Given the description of an element on the screen output the (x, y) to click on. 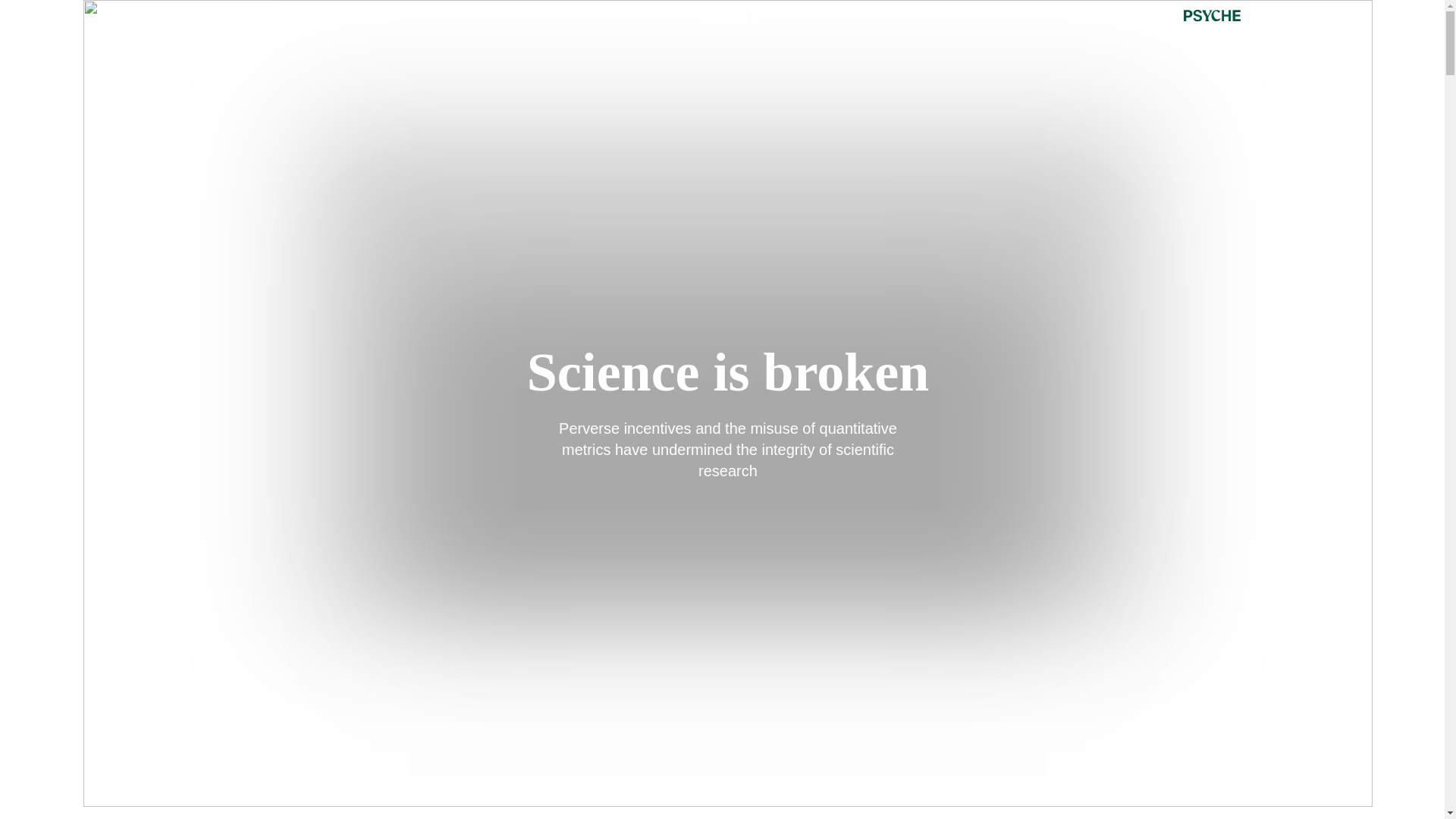
Sign in (1146, 16)
Psyche (1211, 17)
DONATE (970, 15)
